Given the description of an element on the screen output the (x, y) to click on. 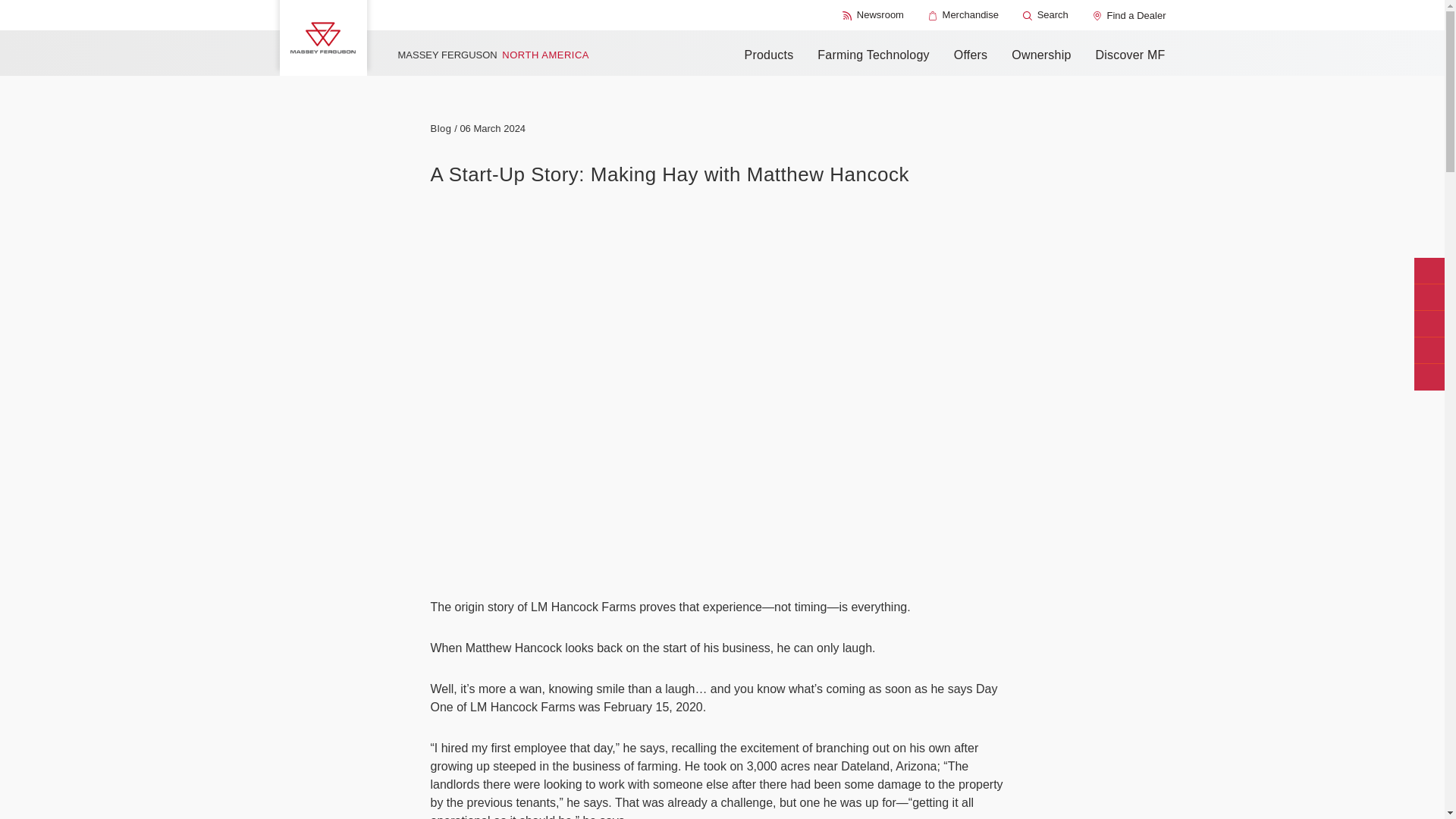
Search (1045, 14)
Merchandise (963, 14)
Products (768, 54)
Search (1045, 14)
Find a Dealer (1129, 14)
Newsroom (873, 14)
Merchandise (963, 14)
Products (768, 54)
Newsroom (873, 14)
Massey Ferguson  (322, 38)
